Given the description of an element on the screen output the (x, y) to click on. 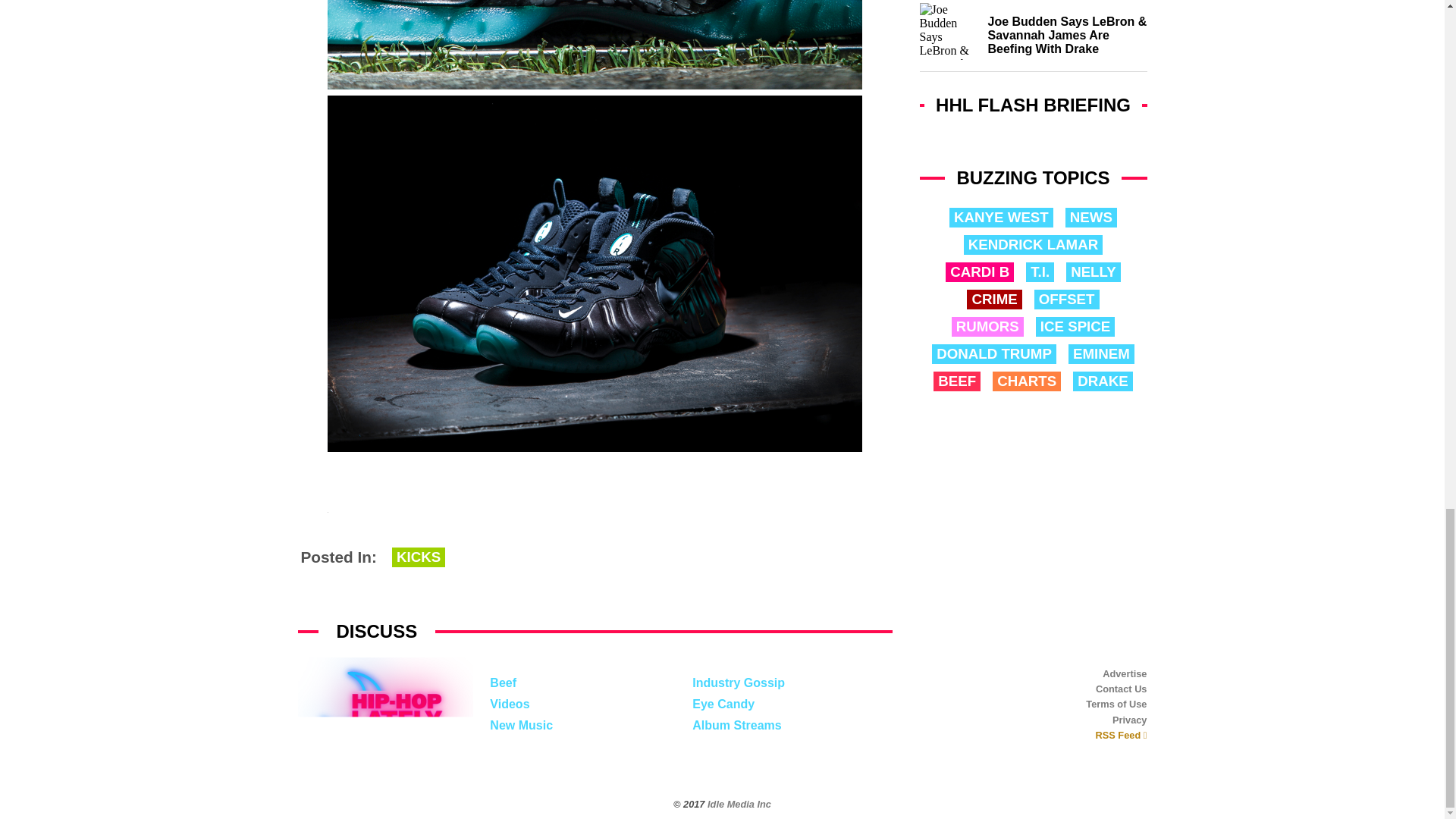
CARDI B (978, 271)
CRIME (994, 299)
NEWS (1090, 217)
RUMORS (987, 326)
T.I. (1040, 271)
DONALD TRUMP (994, 353)
Listen to the latest news on your Alexa Device! (1032, 137)
NELLY (1093, 271)
KICKS (418, 557)
ICE SPICE (1075, 326)
